Given the description of an element on the screen output the (x, y) to click on. 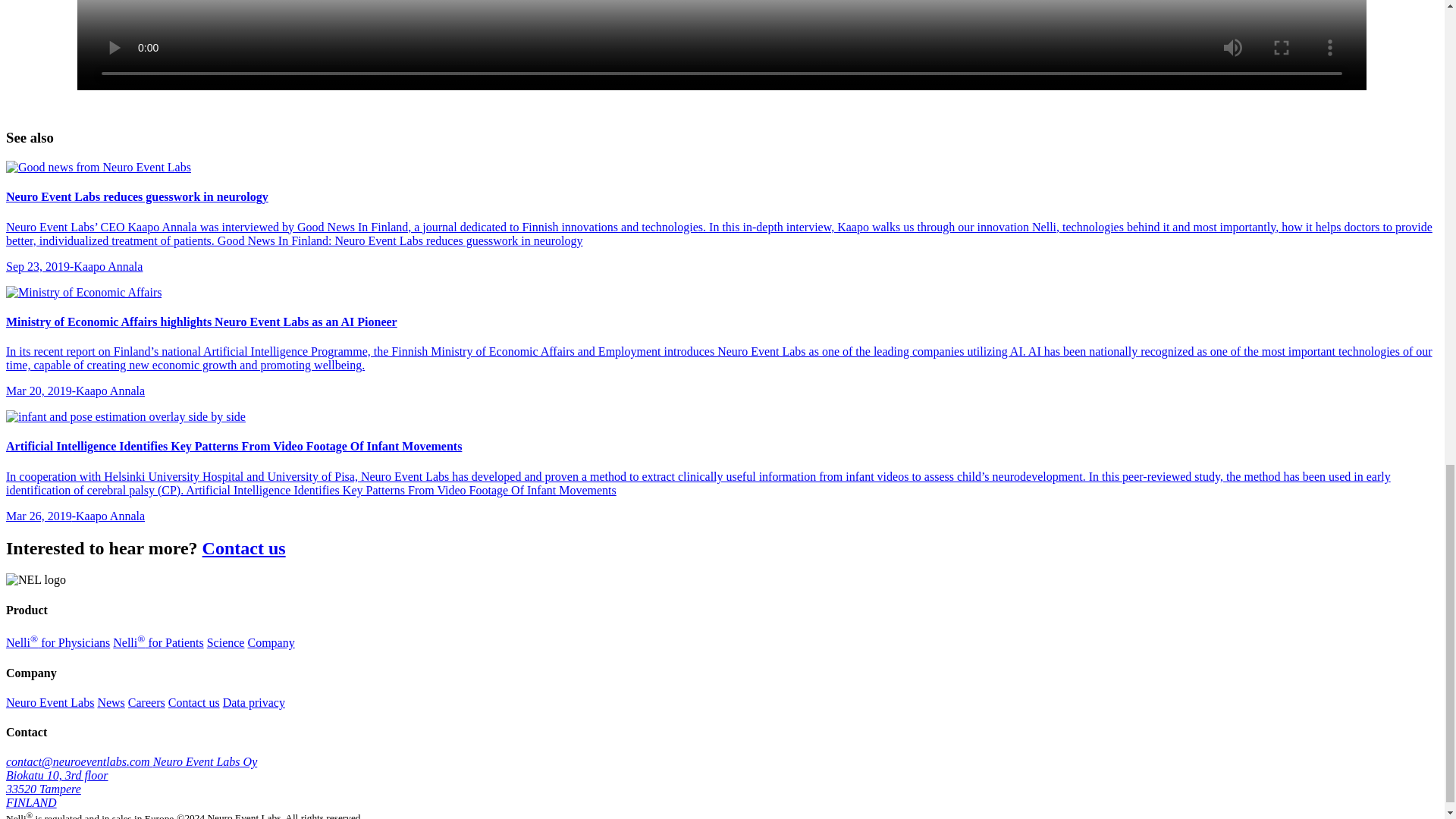
Careers (146, 702)
Science (225, 642)
Company (270, 642)
News (110, 702)
Contact us (193, 702)
Data privacy (253, 702)
Contact us (243, 547)
Neuro Event Labs (49, 702)
